Given the description of an element on the screen output the (x, y) to click on. 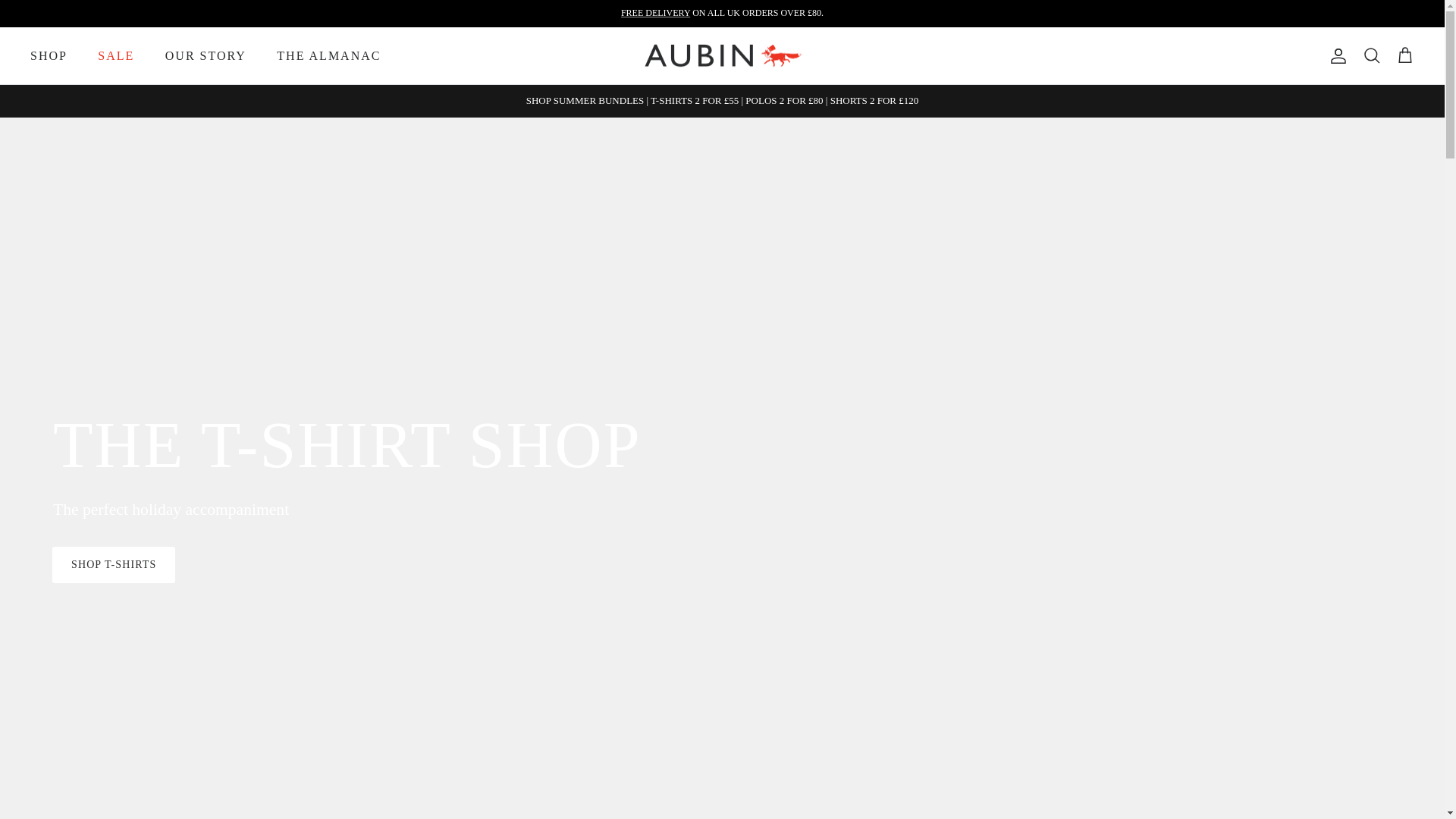
Cart (1404, 55)
SHOP (48, 55)
Search (1371, 55)
SALE (116, 55)
OUR STORY (205, 55)
Account (1335, 55)
FREE DELIVERY (655, 12)
THE ALMANAC (328, 55)
Aubin (722, 55)
